Given the description of an element on the screen output the (x, y) to click on. 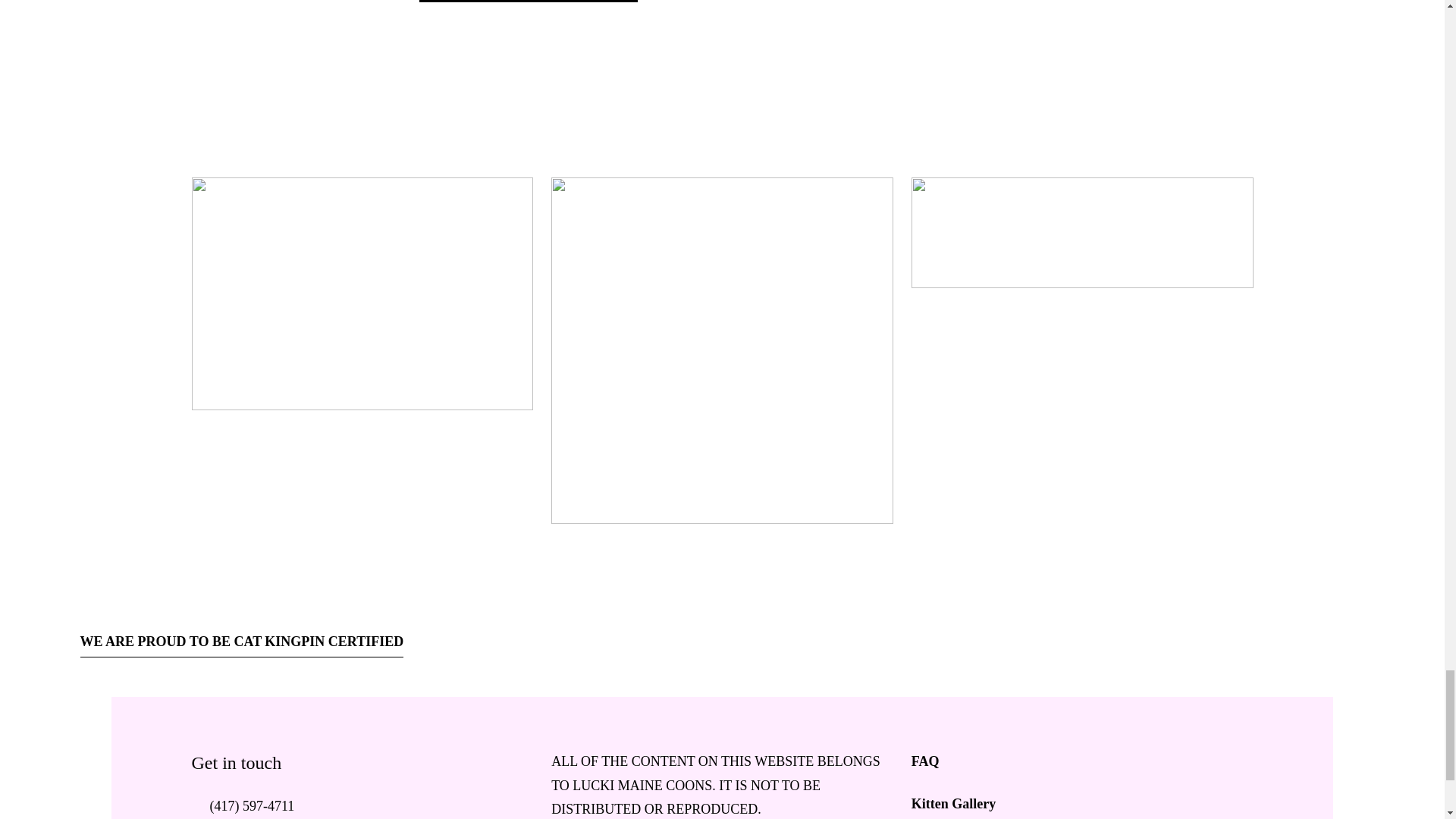
FAQ (1082, 761)
LUCKI MAINE COON BLOG (528, 2)
WE ARE PROUD TO BE CAT KINGPIN CERTIFIED (242, 643)
Kitten Gallery (1082, 804)
